Given the description of an element on the screen output the (x, y) to click on. 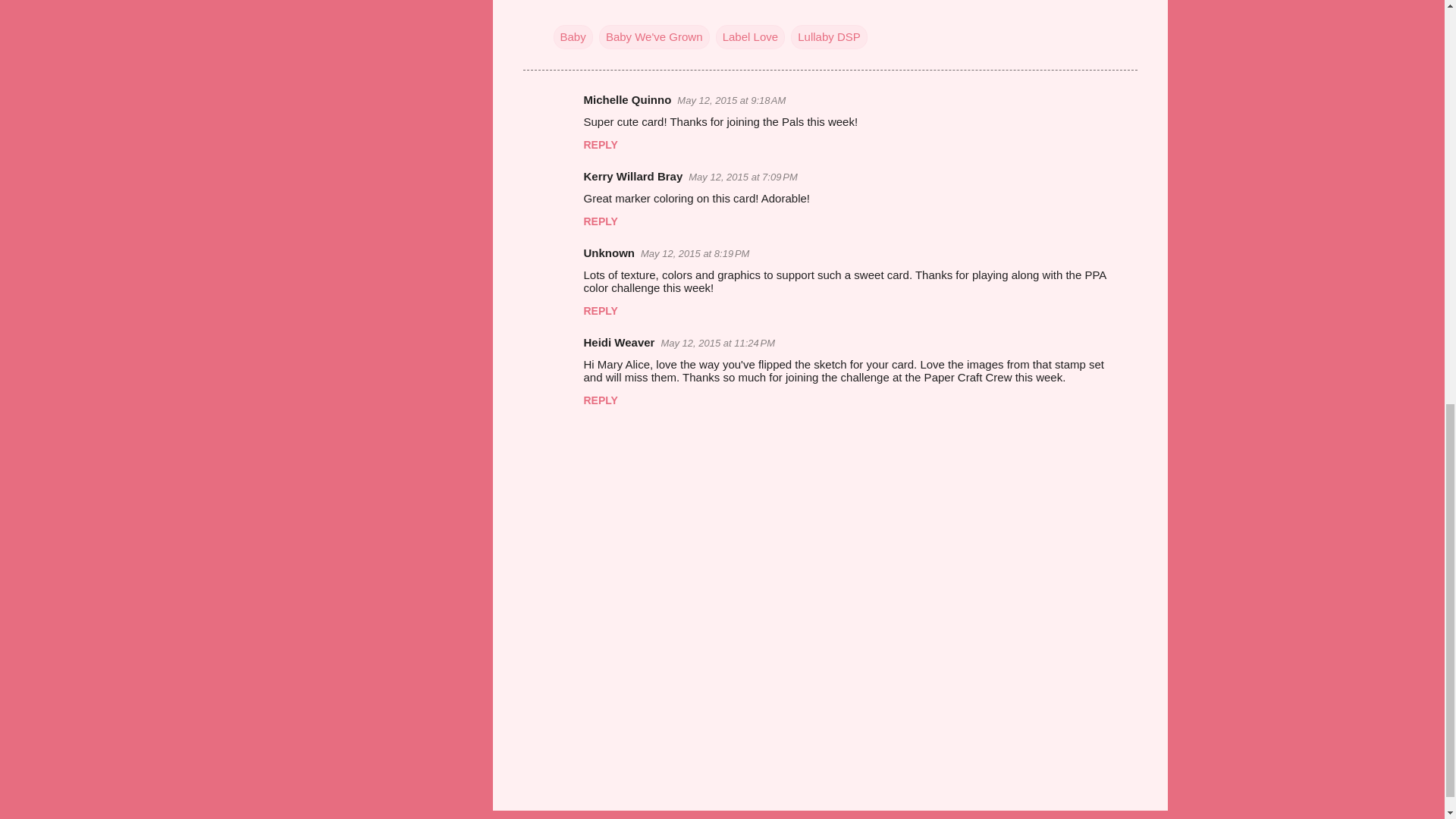
Baby We've Grown (654, 36)
Lullaby DSP (828, 36)
REPLY (600, 221)
Label Love (750, 36)
Baby (572, 36)
Michelle Quinno (627, 99)
Kerry Willard Bray (632, 175)
